Given the description of an element on the screen output the (x, y) to click on. 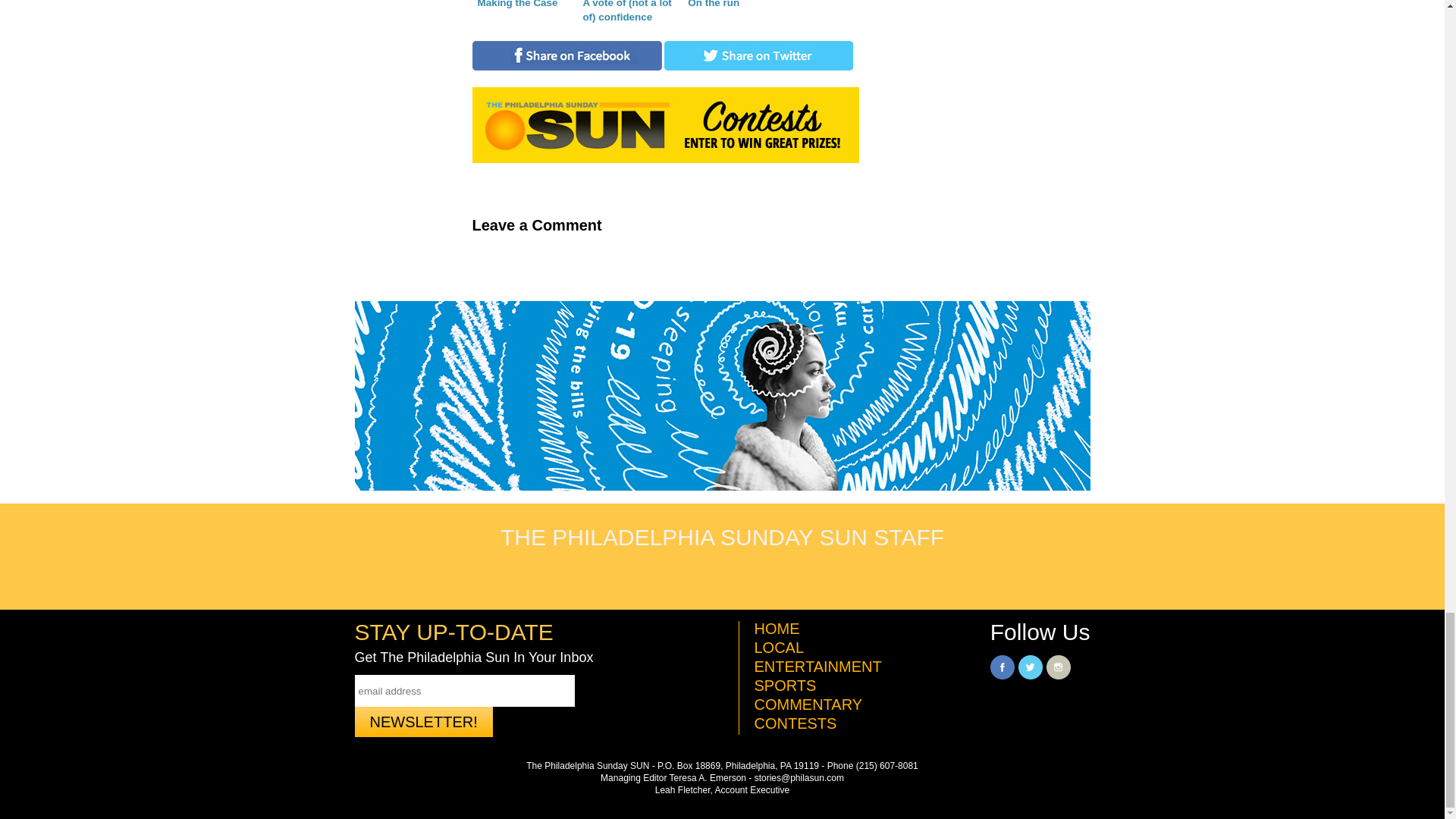
On the run (731, 13)
Making the Case (520, 13)
Newsletter! (424, 721)
